Given the description of an element on the screen output the (x, y) to click on. 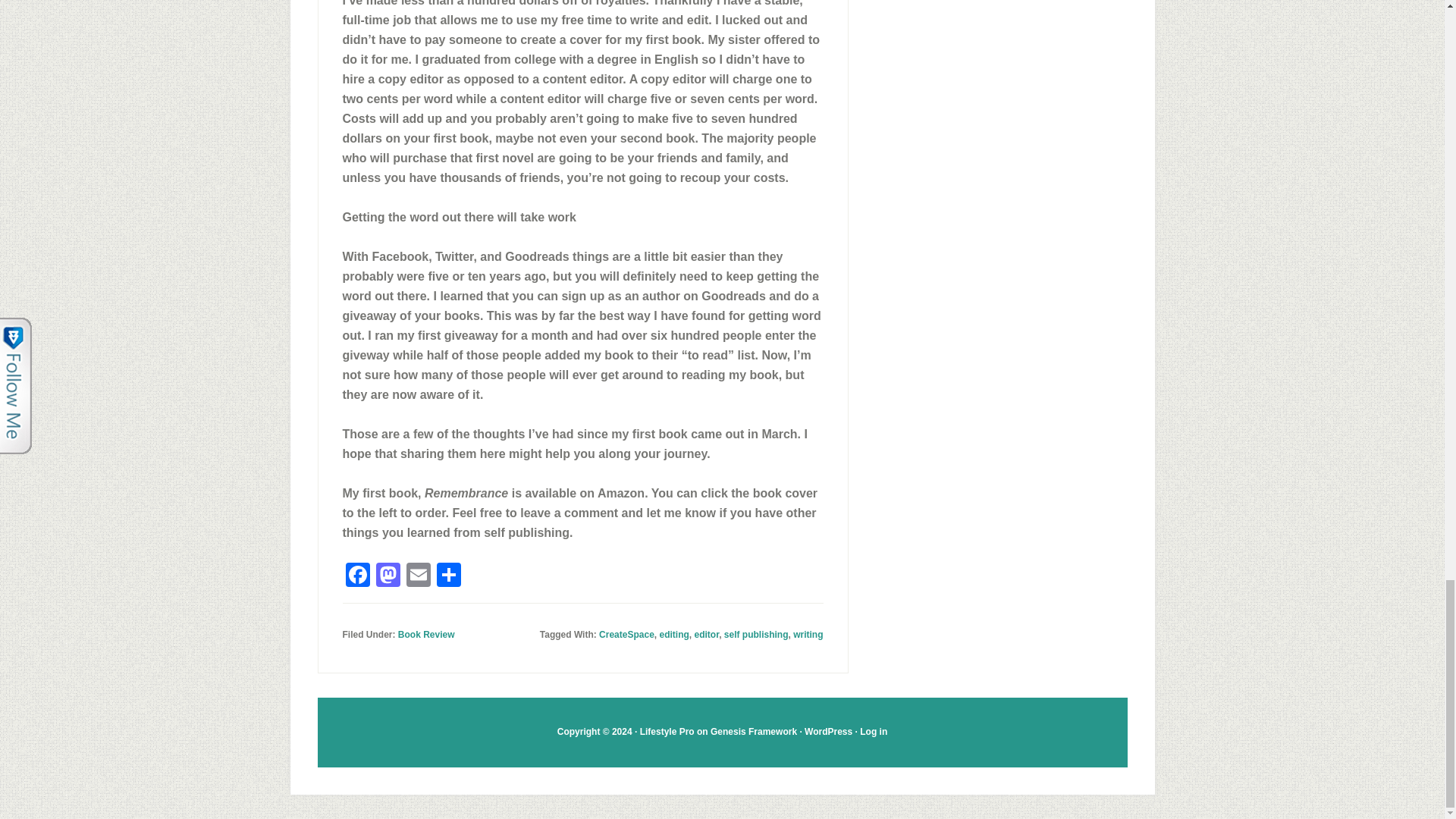
Facebook (357, 576)
Log in (873, 731)
Book Review (425, 634)
Share (448, 576)
Mastodon (387, 576)
Email (418, 576)
CreateSpace (625, 634)
Mastodon (387, 576)
Lifestyle Pro (667, 731)
writing (807, 634)
self publishing (756, 634)
WordPress (828, 731)
Genesis Framework (753, 731)
editor (706, 634)
Facebook (357, 576)
